Given the description of an element on the screen output the (x, y) to click on. 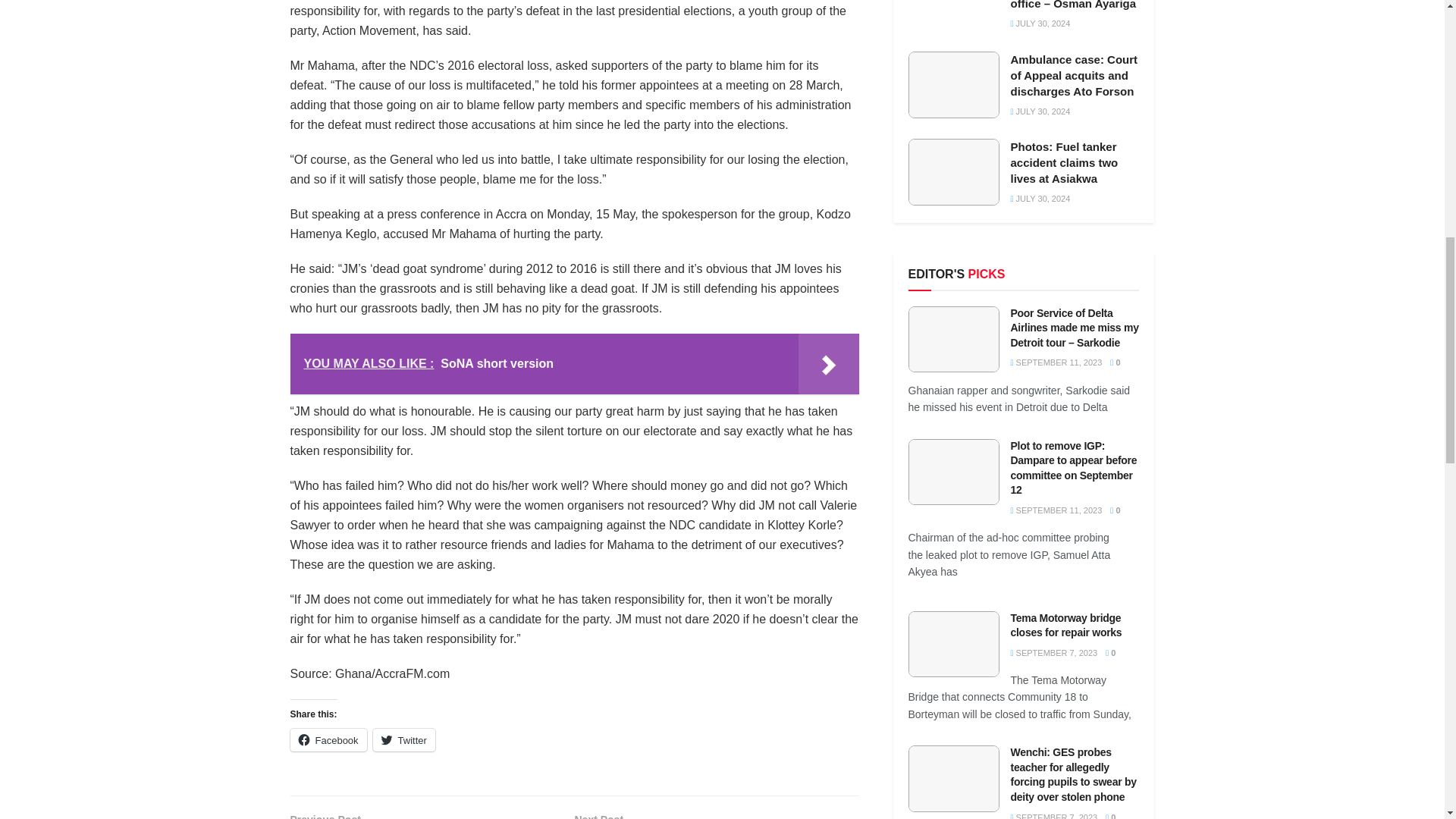
Click to share on Facebook (327, 739)
Click to share on Twitter (403, 739)
